Given the description of an element on the screen output the (x, y) to click on. 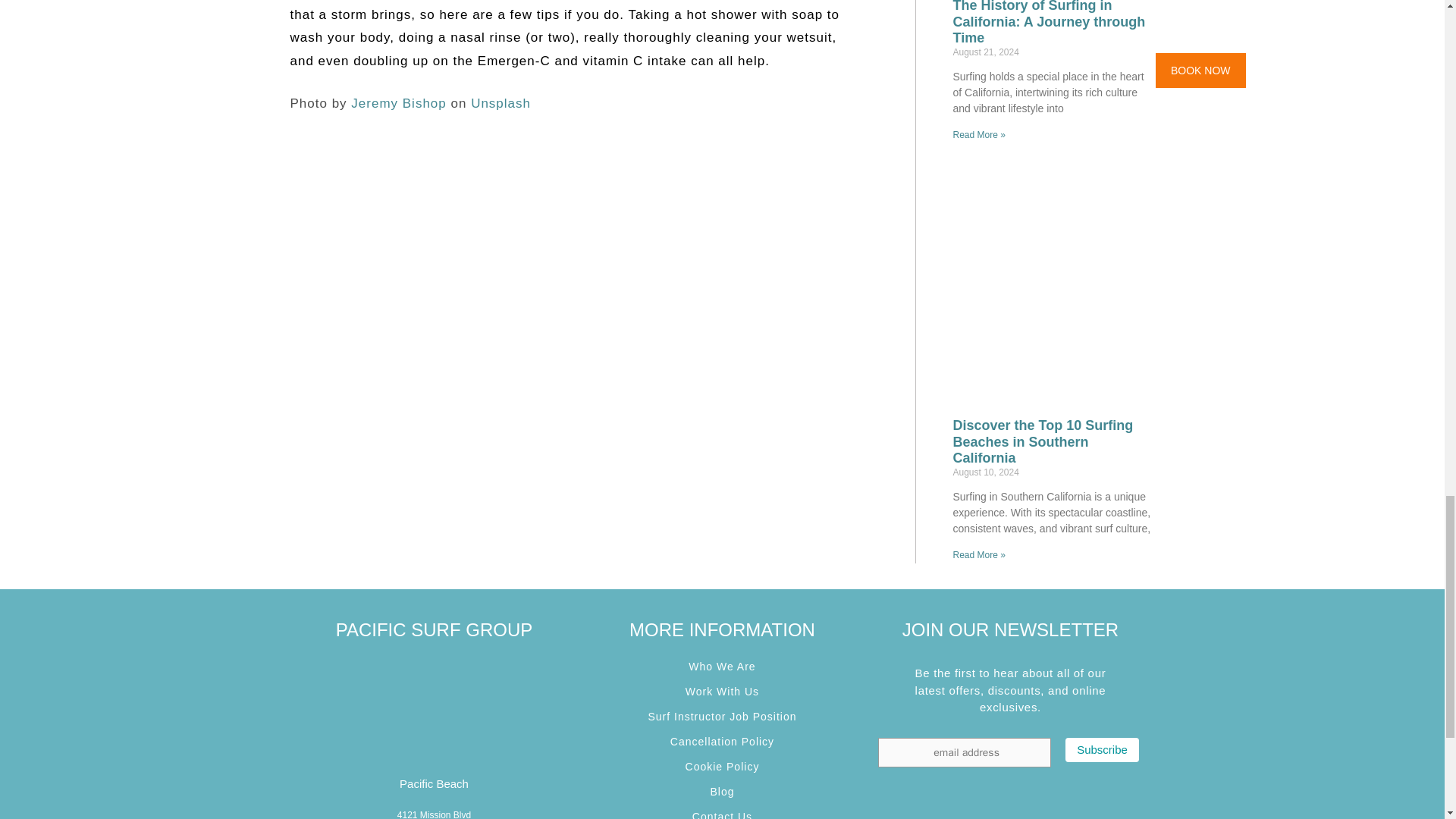
Jeremy Bishop (397, 103)
Unsplash (500, 103)
Subscribe (1101, 749)
The History of Surfing in California: A Journey through Time (1048, 22)
